Given the description of an element on the screen output the (x, y) to click on. 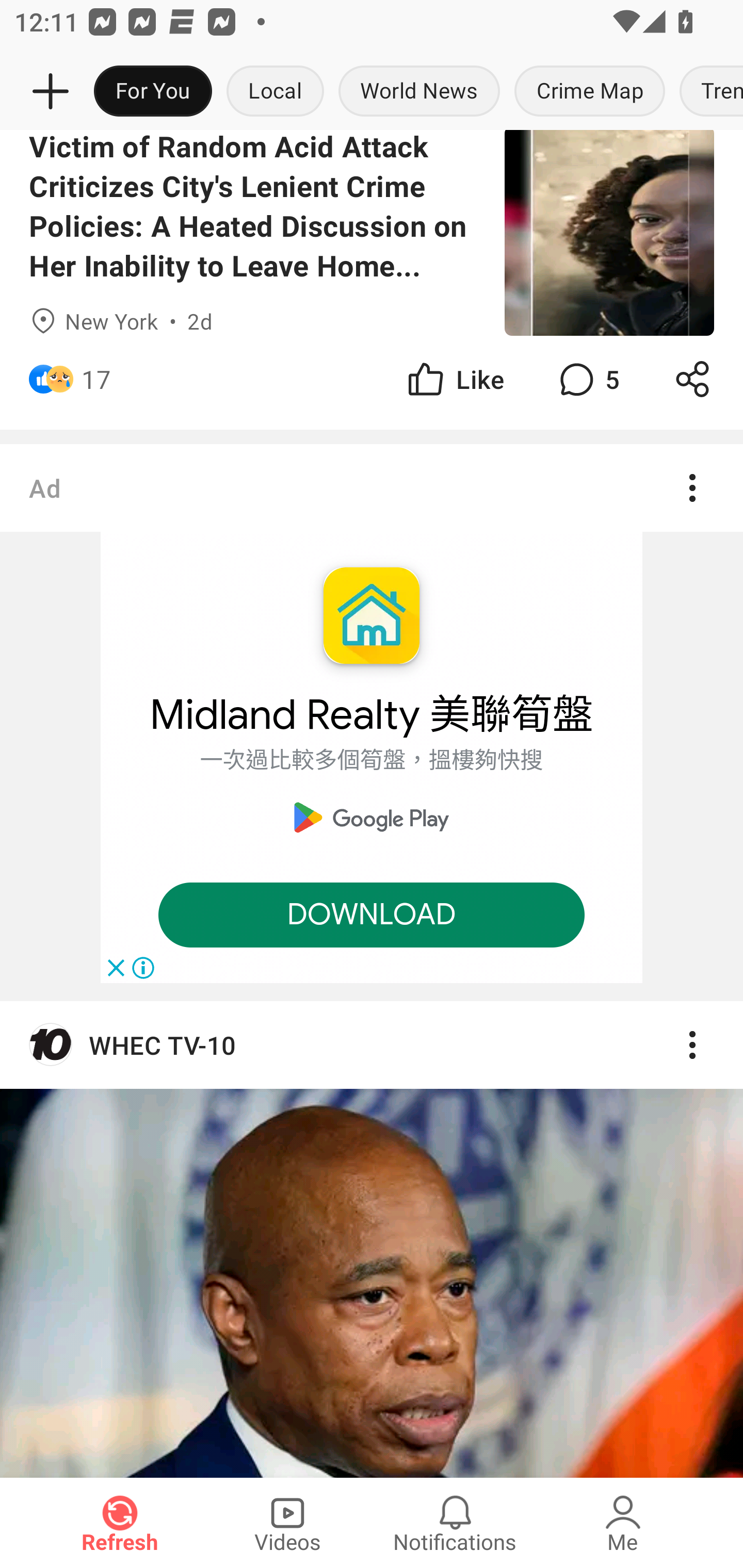
For You (152, 91)
Local (275, 91)
World News (419, 91)
Crime Map (589, 91)
17 (95, 378)
Like (454, 378)
5 (587, 378)
Midland Realty 美聯筍盤 (371, 715)
一次過比較多個筍盤，搵樓夠快搜 (371, 759)
DOWNLOAD (371, 914)
WHEC TV-10 (371, 1238)
WHEC TV-10 (371, 1044)
Videos (287, 1522)
Notifications (455, 1522)
Me (622, 1522)
